Given the description of an element on the screen output the (x, y) to click on. 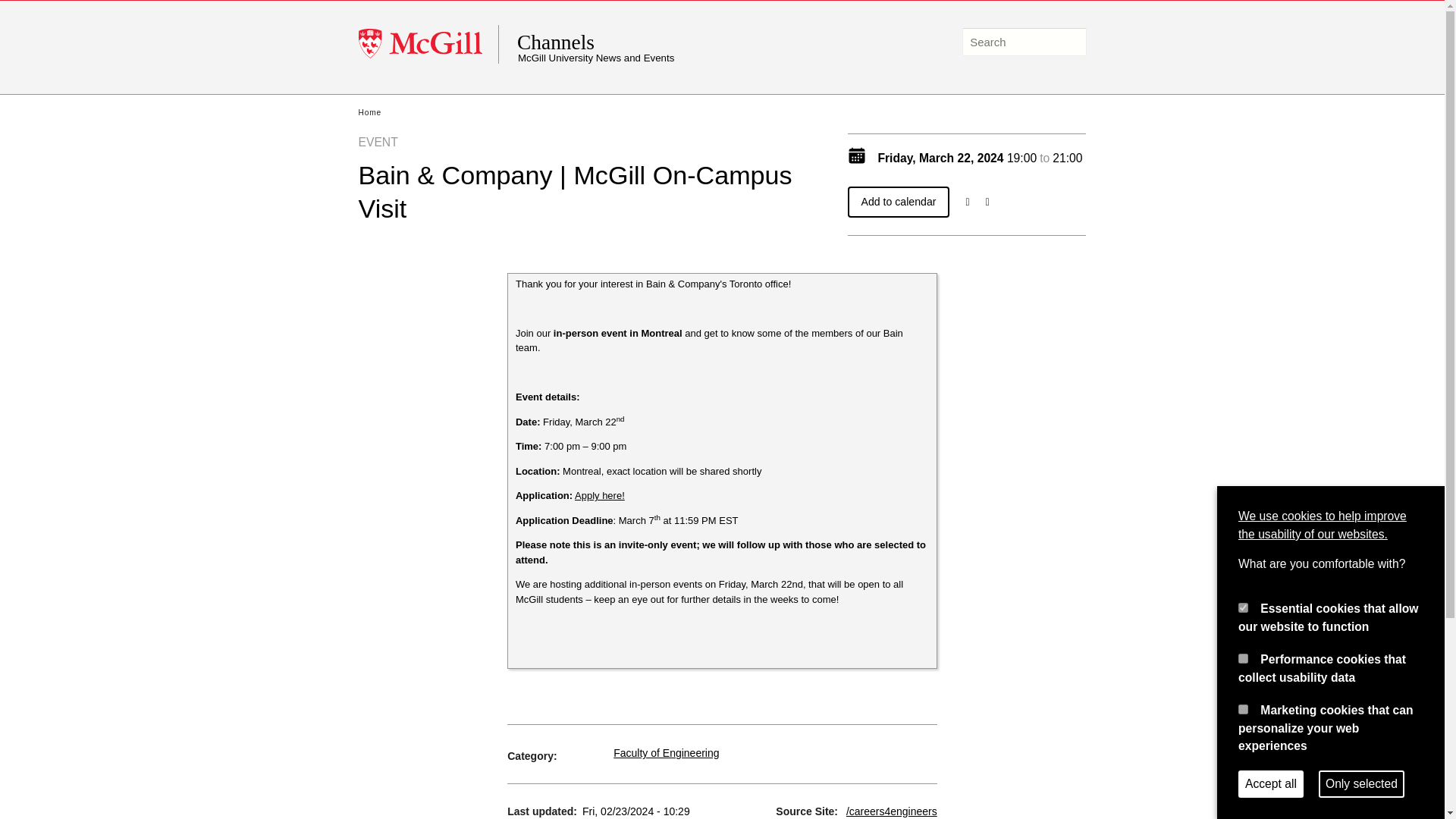
Apply here! (599, 495)
Only selected (1362, 783)
performance (1243, 658)
Search (1070, 42)
Add to calendar (898, 201)
marketing (1243, 709)
McGill University (427, 44)
Channels (664, 42)
required (1243, 607)
Faculty of Engineering (665, 752)
return to McGill University (427, 44)
Search (1070, 42)
Accept all (1271, 783)
Home (369, 112)
